Given the description of an element on the screen output the (x, y) to click on. 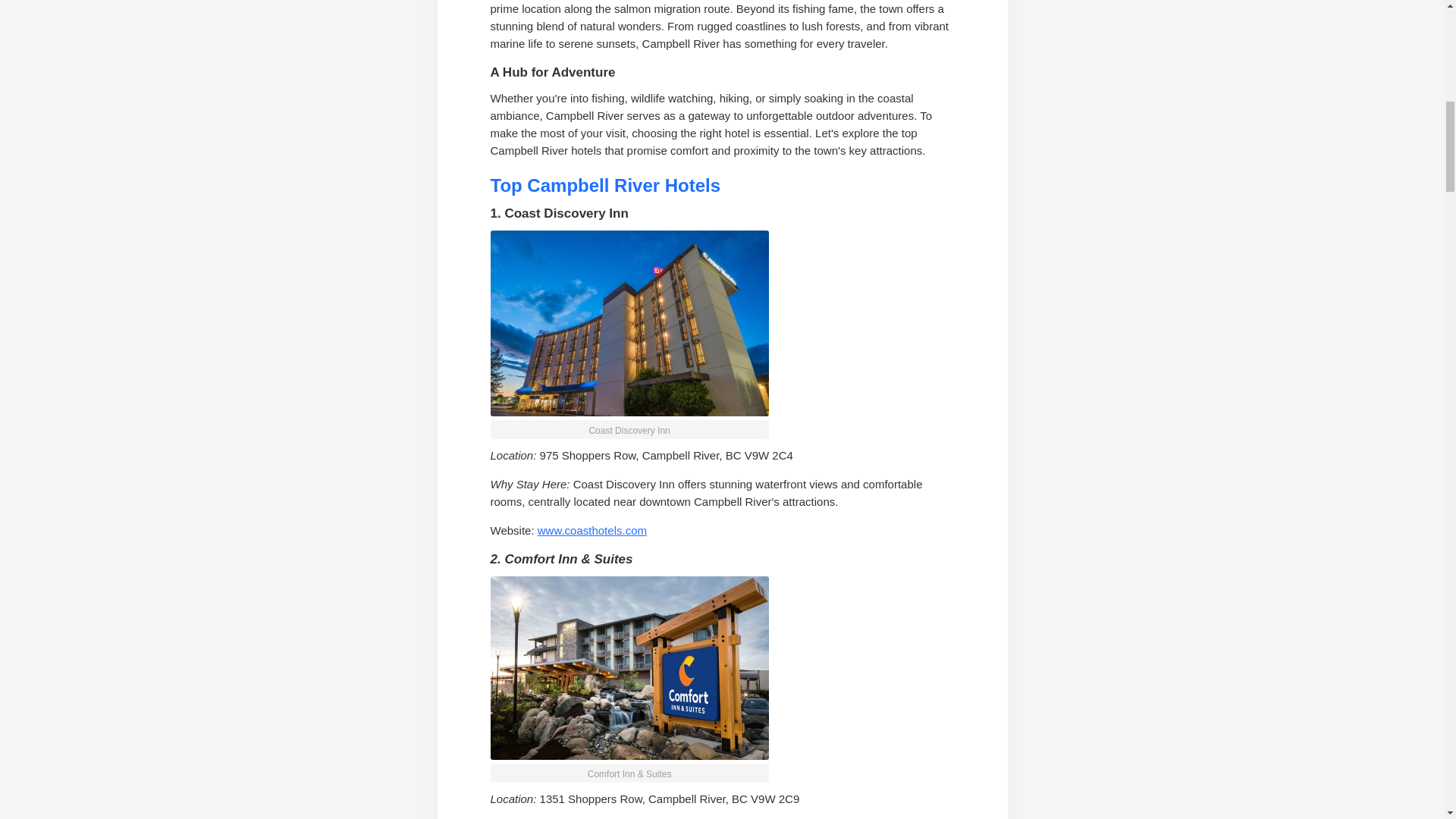
www.coasthotels.com (591, 530)
